Given the description of an element on the screen output the (x, y) to click on. 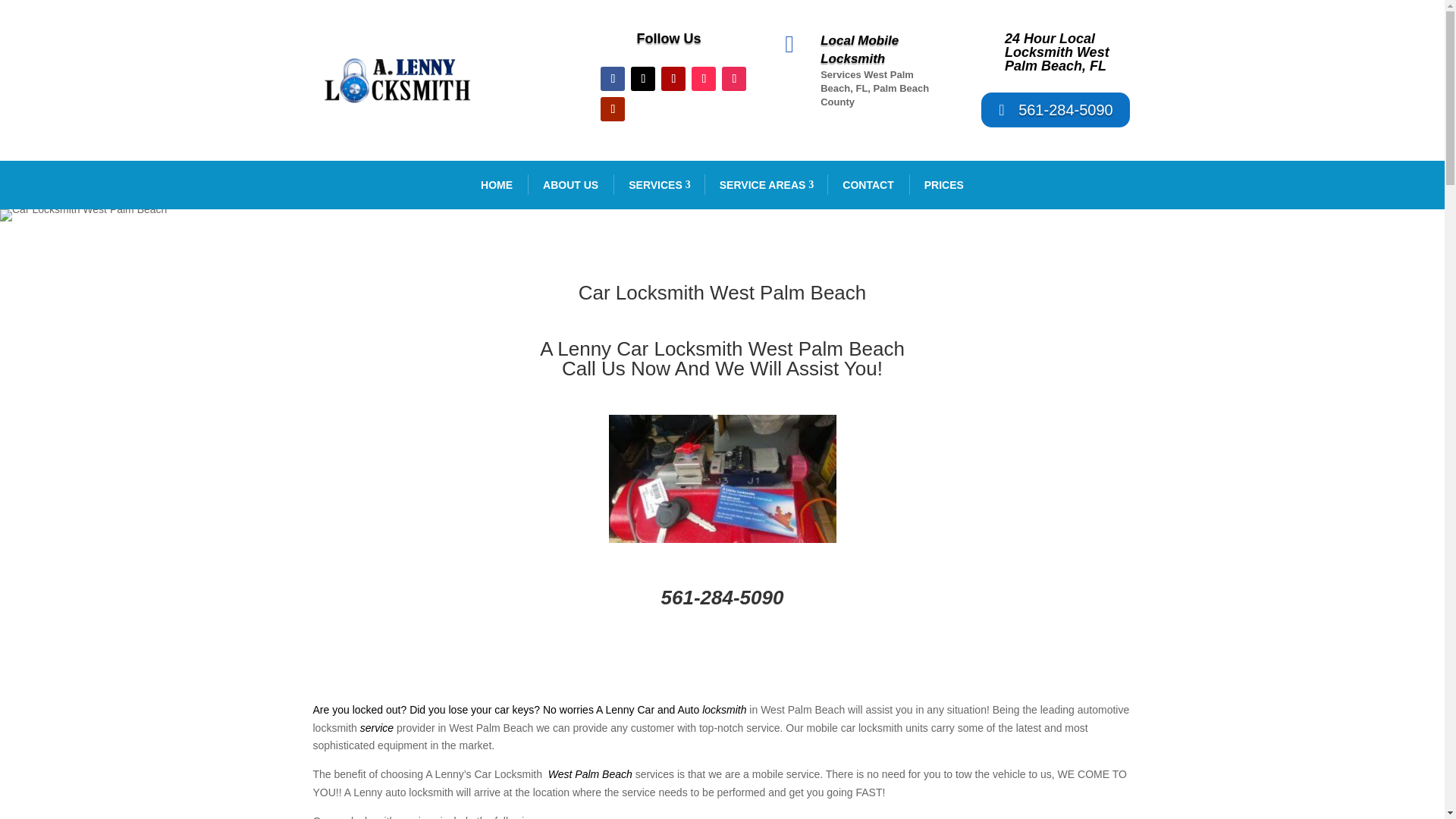
locksmith west palm beach (398, 80)
Follow on Facebook (611, 78)
Follow on Youtube (611, 109)
car-locksmith-west-palm-beach (721, 478)
Car Locksmith West Palm Beach (83, 215)
Follow on Instagram (733, 78)
Follow on TikTok (703, 78)
Follow on X (642, 78)
Follow on Yelp (673, 78)
